Given the description of an element on the screen output the (x, y) to click on. 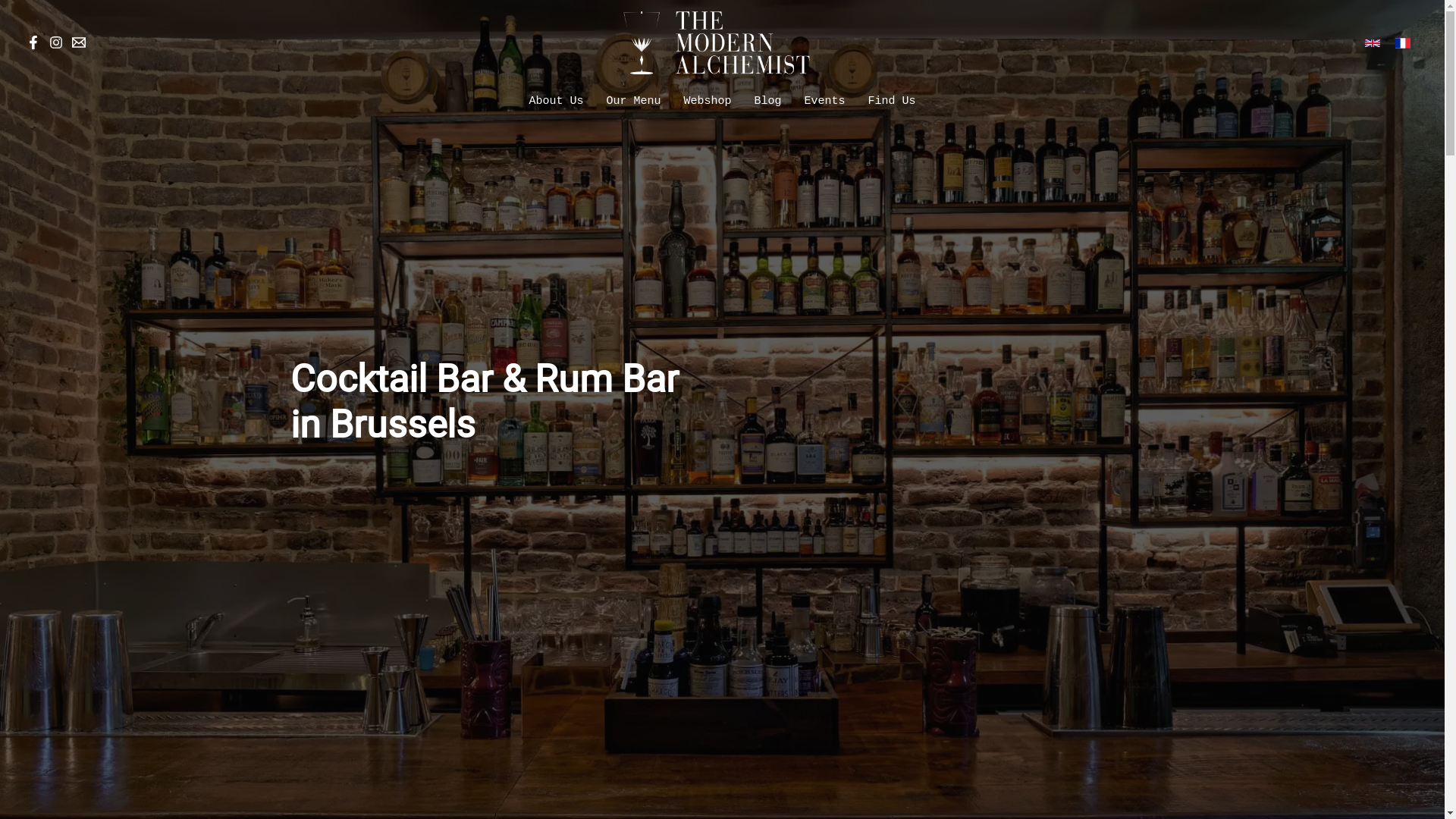
Blog Element type: text (768, 100)
Find Us Element type: text (891, 100)
About Us Element type: text (555, 100)
Our Menu Element type: text (632, 100)
Events Element type: text (824, 100)
Webshop Element type: text (706, 100)
